Given the description of an element on the screen output the (x, y) to click on. 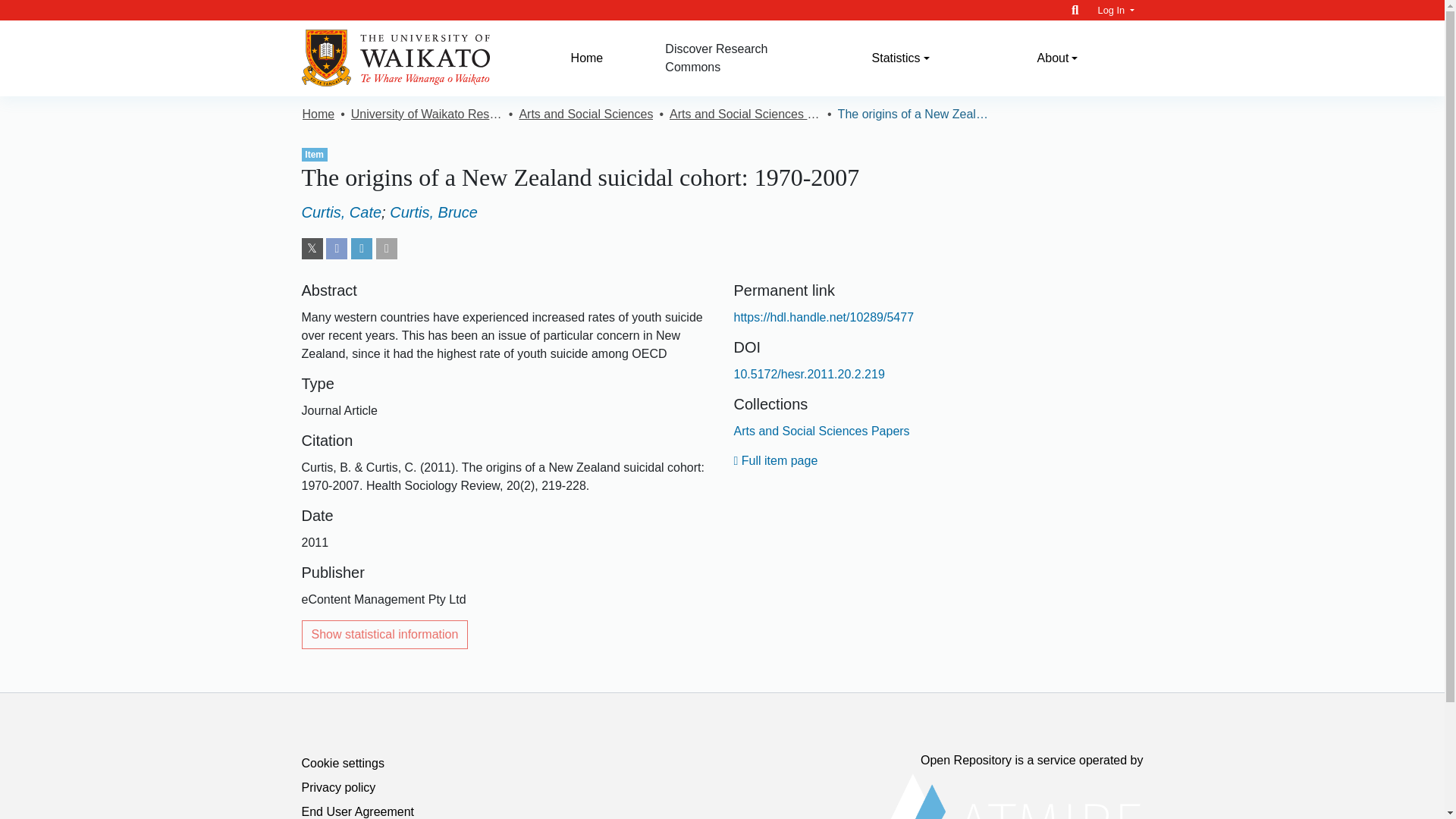
Full item page (775, 460)
Arts and Social Sciences Papers (821, 431)
Arts and Social Sciences Papers (745, 114)
Show statistical information (384, 634)
Curtis, Bruce (433, 211)
Home (317, 114)
Log In (1115, 9)
Arts and Social Sciences (585, 114)
Privacy policy (338, 787)
Home (586, 58)
Cookie settings (342, 762)
University of Waikato Research (426, 114)
Home (586, 58)
About (1056, 58)
Statistics (900, 58)
